Given the description of an element on the screen output the (x, y) to click on. 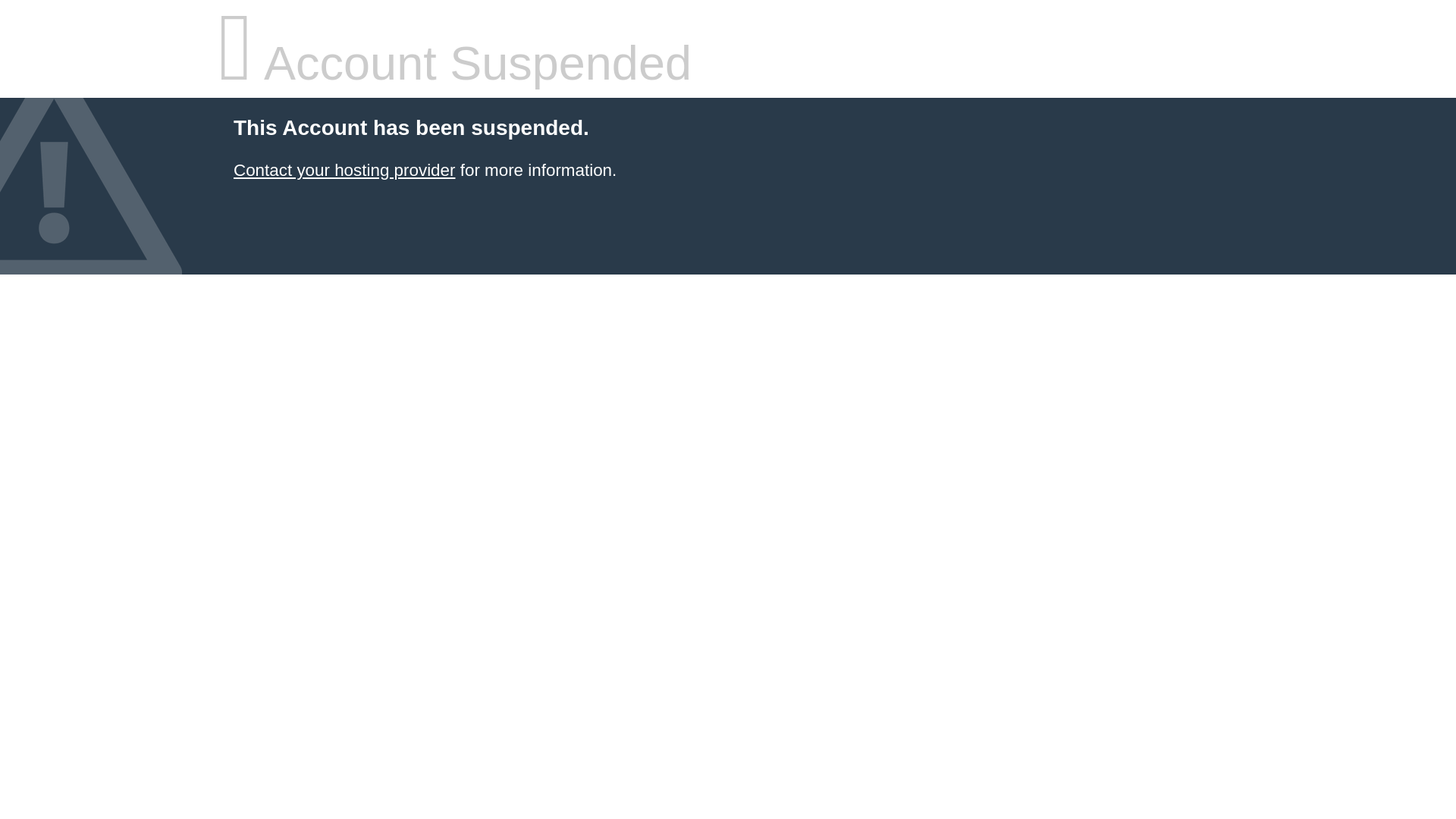
Contact your hosting provider (343, 169)
